Given the description of an element on the screen output the (x, y) to click on. 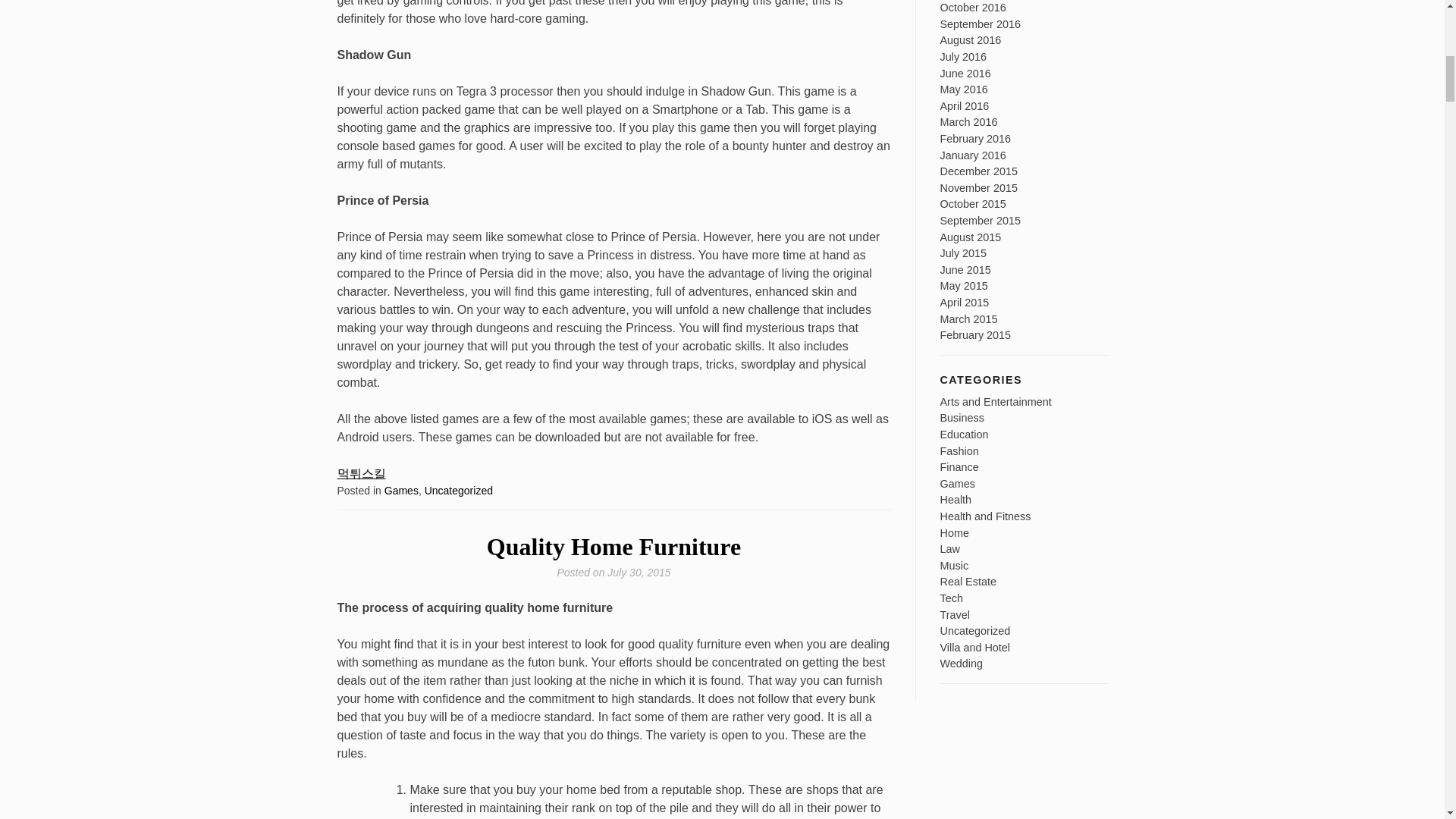
Games (401, 490)
Uncategorized (459, 490)
July 30, 2015 (638, 572)
Quality Home Furniture (613, 546)
